Given the description of an element on the screen output the (x, y) to click on. 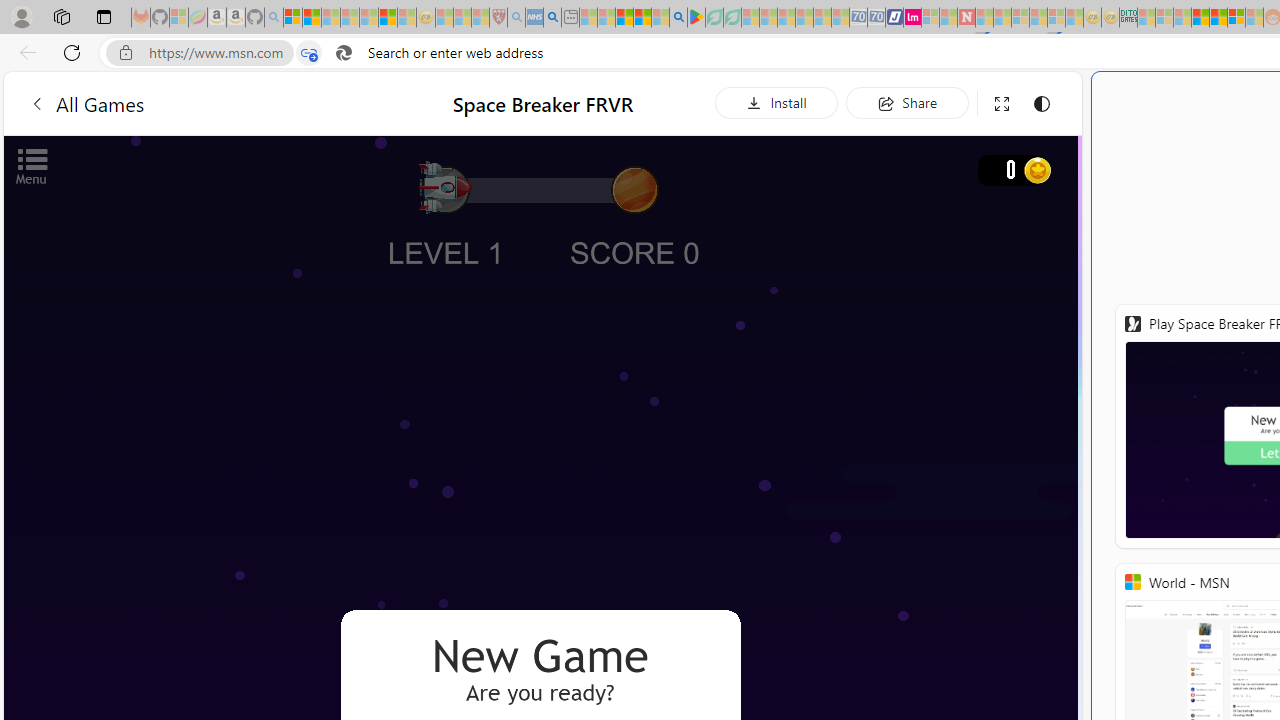
Change to dark mode (1041, 103)
Full screen (1002, 103)
